Given the description of an element on the screen output the (x, y) to click on. 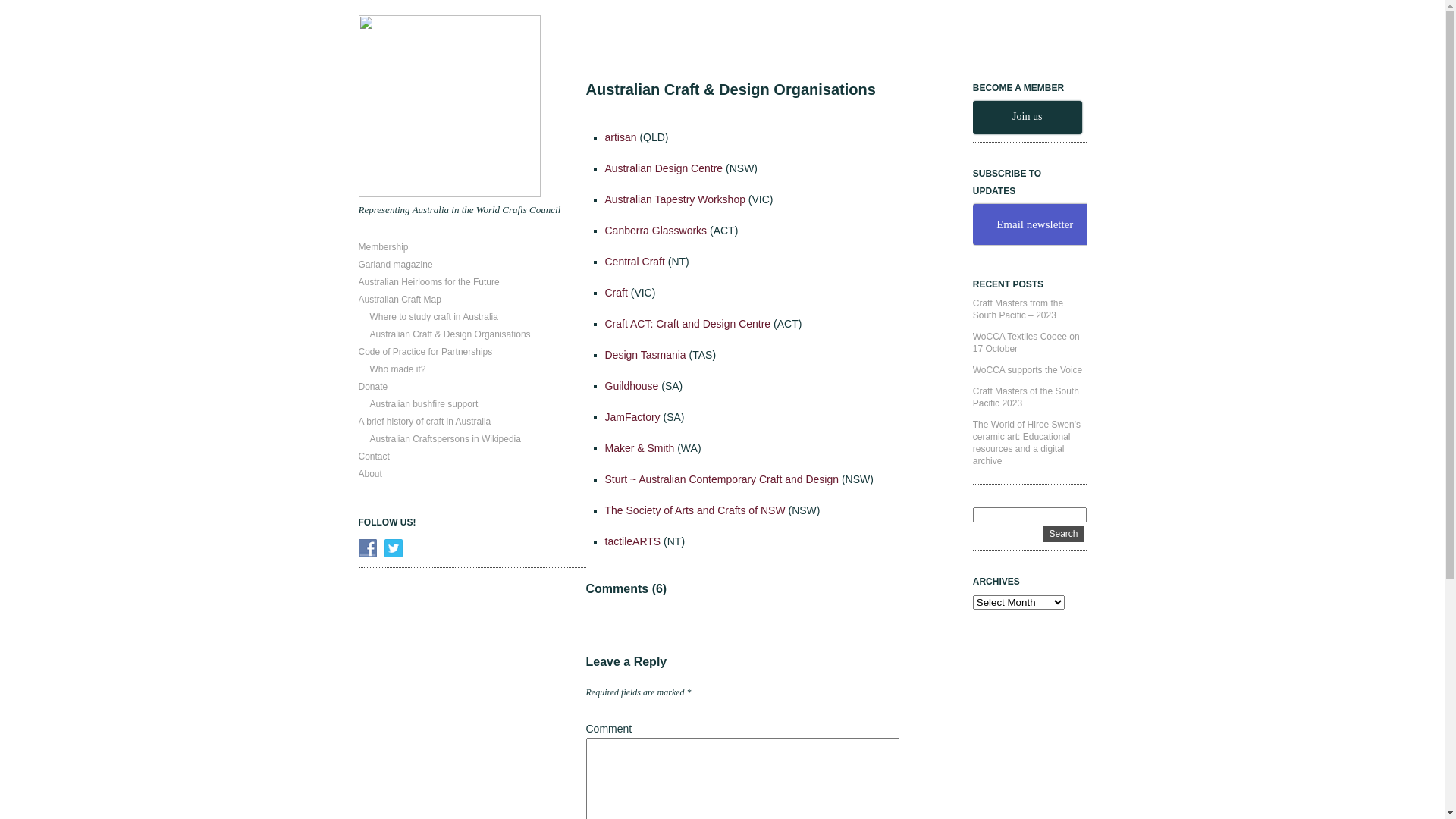
Craft ACT: Craft and Design Centre Element type: text (688, 323)
Craft Element type: text (616, 292)
Join us Element type: text (1027, 117)
Guildhouse Element type: text (631, 385)
Craft Masters of the South Pacific 2023 Element type: text (1025, 396)
Canberra Glassworks Element type: text (656, 230)
Maker & Smith Element type: text (639, 448)
Email newsletter Element type: text (1034, 223)
Central Craft Element type: text (635, 261)
Search Element type: text (1062, 533)
A brief history of craft in Australia Element type: text (423, 421)
Australian Craftspersons in Wikipedia Element type: text (445, 438)
Who made it? Element type: text (398, 369)
Donate Element type: text (372, 386)
Australian Craft Map Element type: text (398, 299)
JamFactory Element type: text (632, 417)
Australian Tapestry Workshop Element type: text (675, 199)
artisan Element type: text (622, 137)
WoCCA Textiles Cooee on 17 October Element type: text (1025, 342)
Australian bushfire support Element type: text (424, 403)
Design Tasmania Element type: text (645, 354)
Where to study craft in Australia Element type: text (434, 316)
Follow Us on Twitter Element type: hover (392, 548)
Australian Heirlooms for the Future Element type: text (427, 281)
Code of Practice for Partnerships Element type: text (424, 351)
Membership Element type: text (382, 246)
Sturt ~ Australian Contemporary Craft and Design Element type: text (722, 479)
Australian Design Centre Element type: text (664, 168)
Contact Element type: text (373, 456)
The Society of Arts and Crafts of NSW Element type: text (695, 510)
Australian Craft & Design Organisations Element type: text (450, 334)
Follow Us on Facebook Element type: hover (366, 548)
WoCCA supports the Voice Element type: text (1027, 369)
Garland magazine Element type: text (394, 264)
About Element type: text (369, 473)
tactileARTS Element type: text (633, 541)
